Given the description of an element on the screen output the (x, y) to click on. 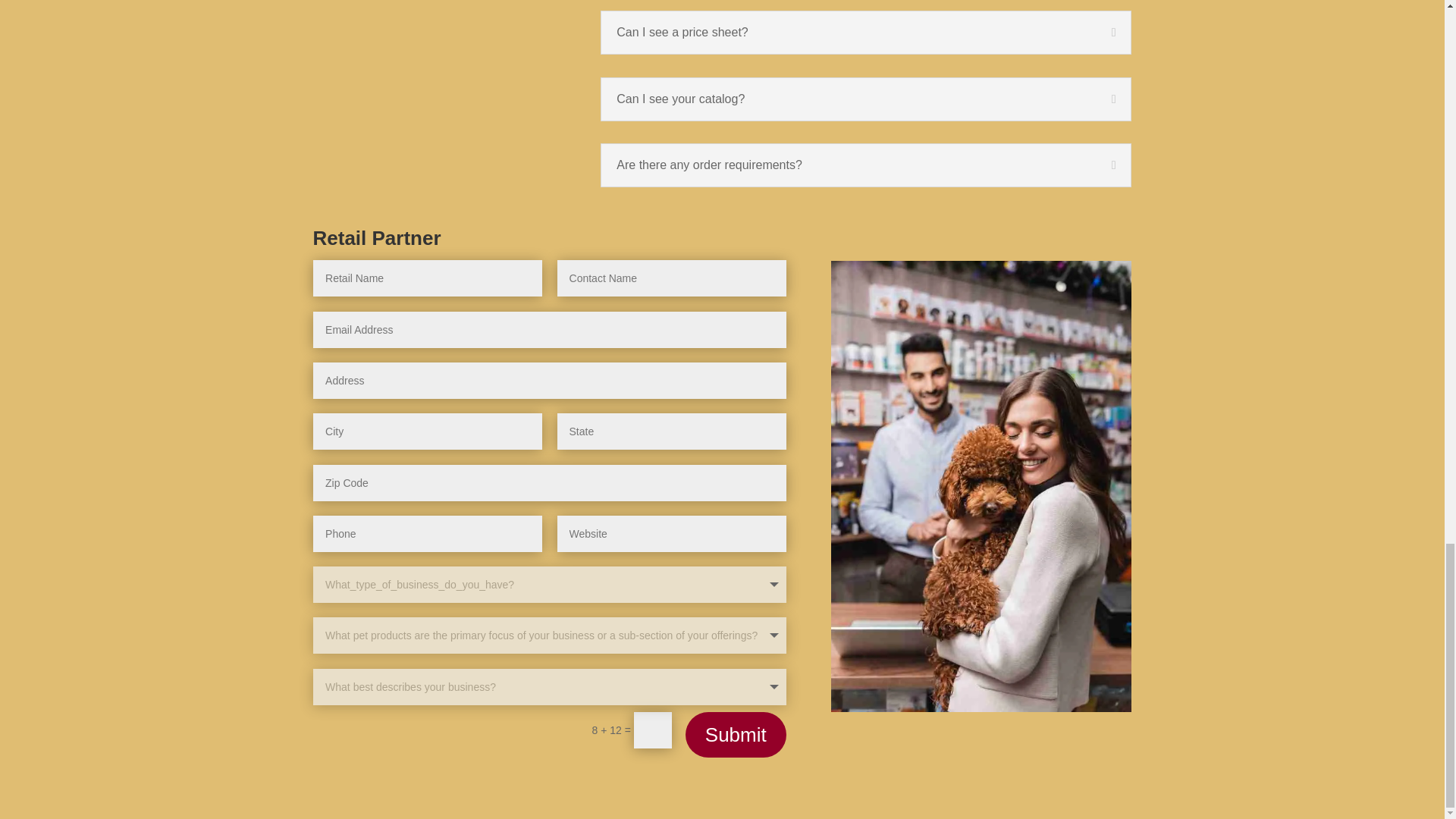
Submit (735, 734)
